Given the description of an element on the screen output the (x, y) to click on. 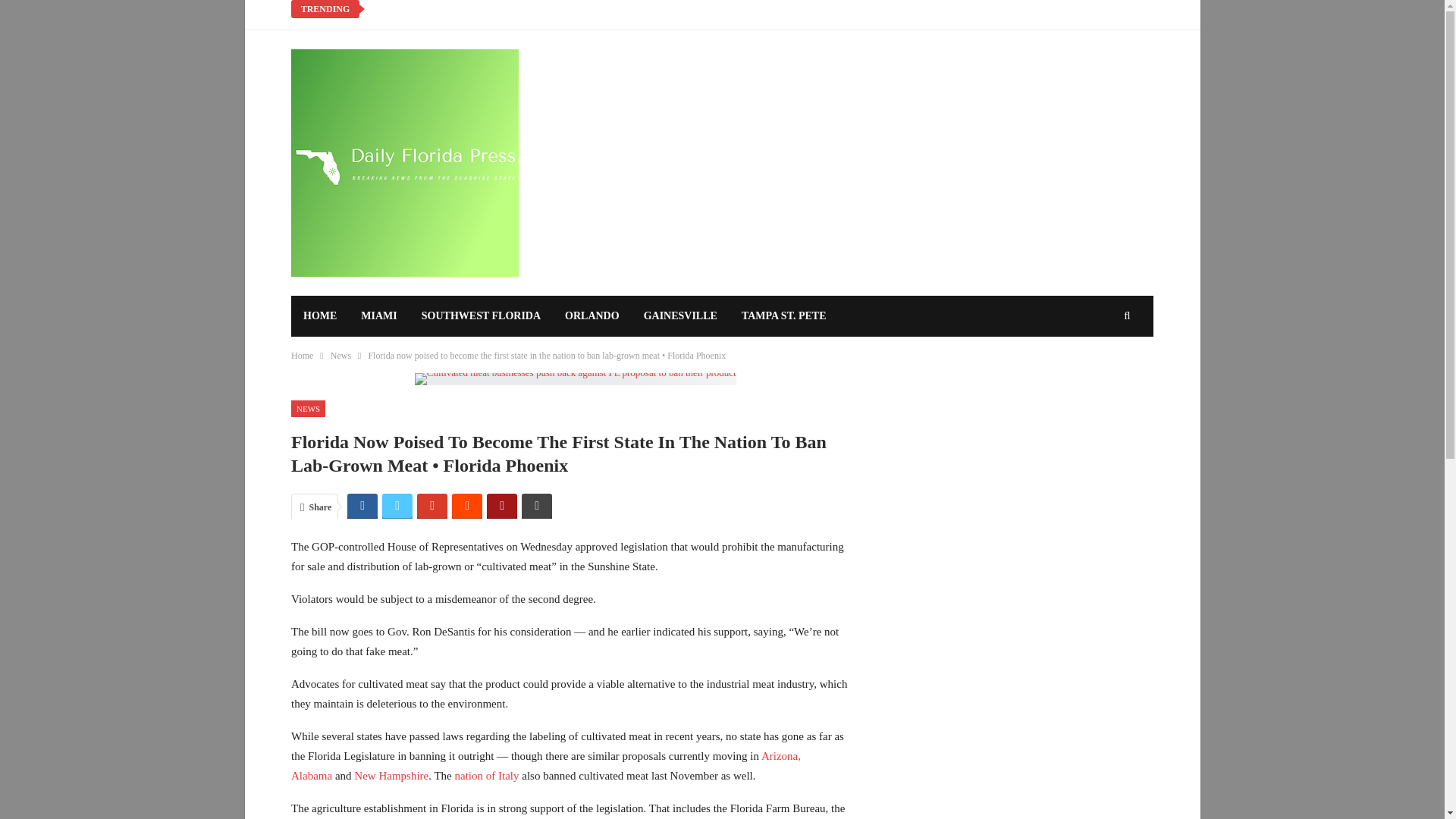
nation of Italy (486, 775)
TAMPA ST. PETE (783, 315)
Alabama (311, 775)
SOUTHWEST FLORIDA (481, 315)
Arizona, (780, 756)
MIAMI (379, 315)
HOME (320, 315)
GAINESVILLE (680, 315)
New Hampshire (390, 775)
News (340, 355)
